Given the description of an element on the screen output the (x, y) to click on. 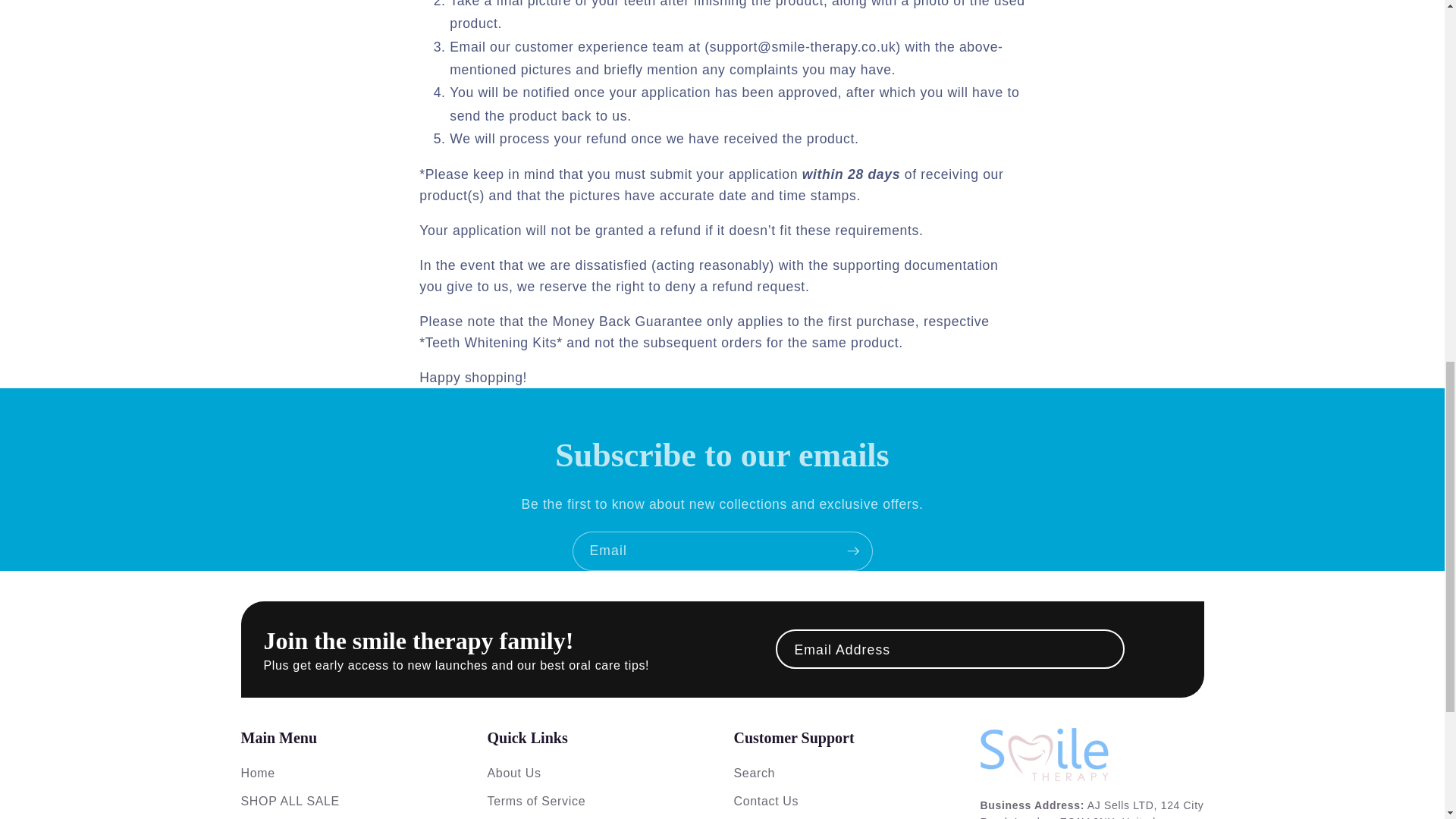
Search (754, 772)
SHOP ALL SALE (290, 800)
Home (258, 772)
Contact Us (766, 800)
About Us (513, 772)
Terms of Service (535, 800)
